Given the description of an element on the screen output the (x, y) to click on. 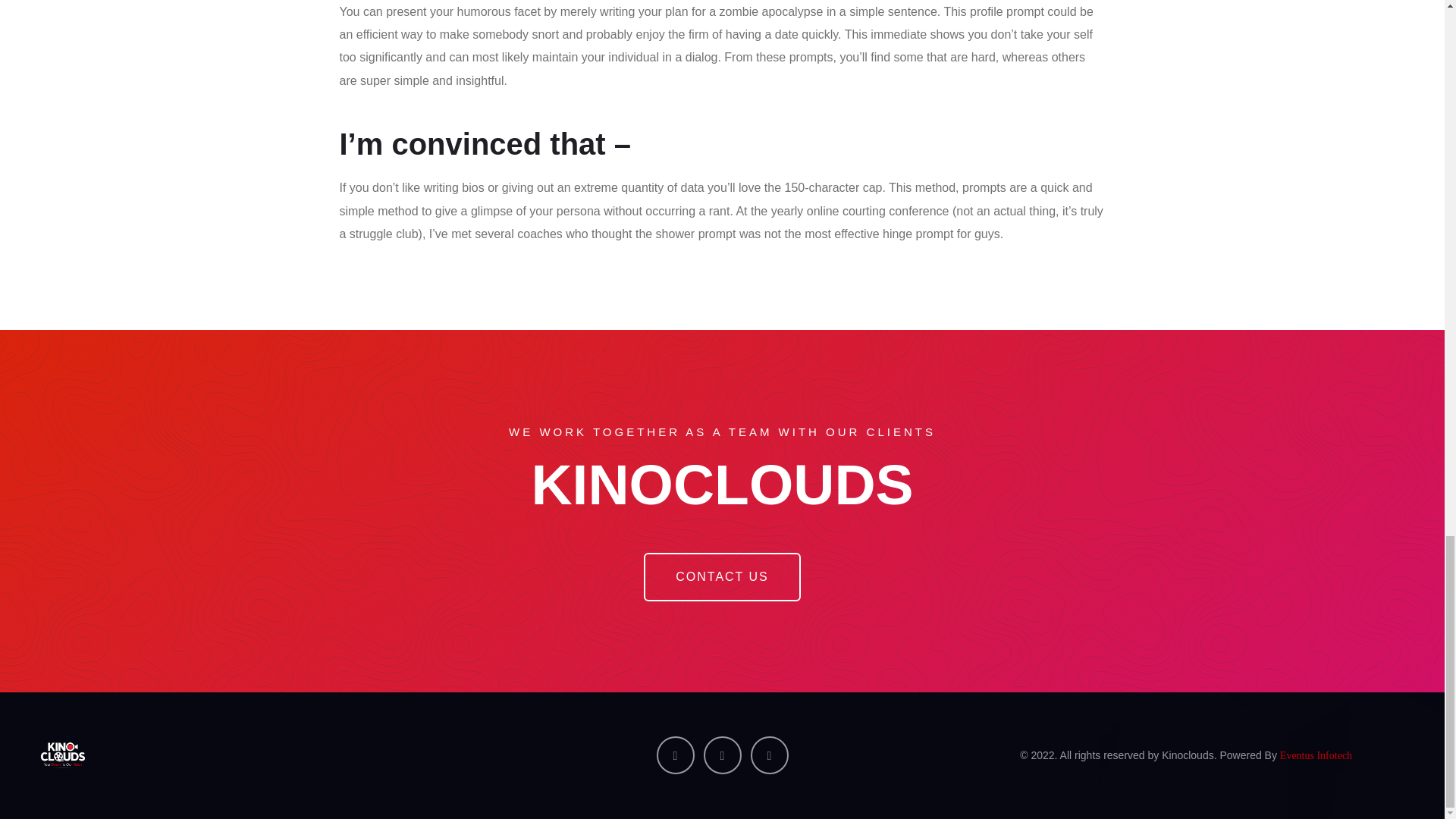
Eventus Infotech (1315, 755)
Kino Clouds (258, 755)
CONTACT US (721, 576)
